Given the description of an element on the screen output the (x, y) to click on. 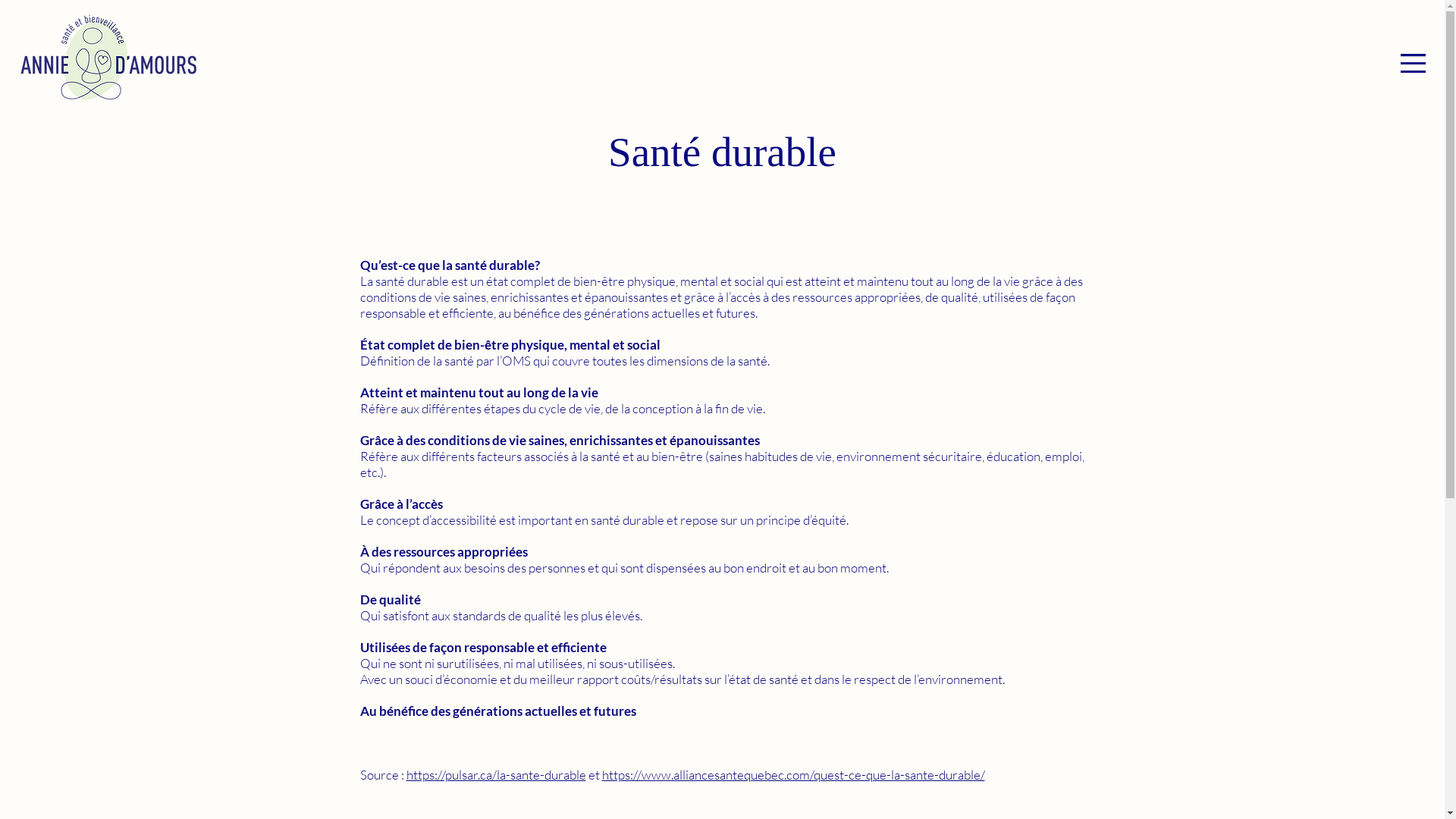
https://pulsar.ca/la-sante-durable Element type: text (496, 774)
